Given the description of an element on the screen output the (x, y) to click on. 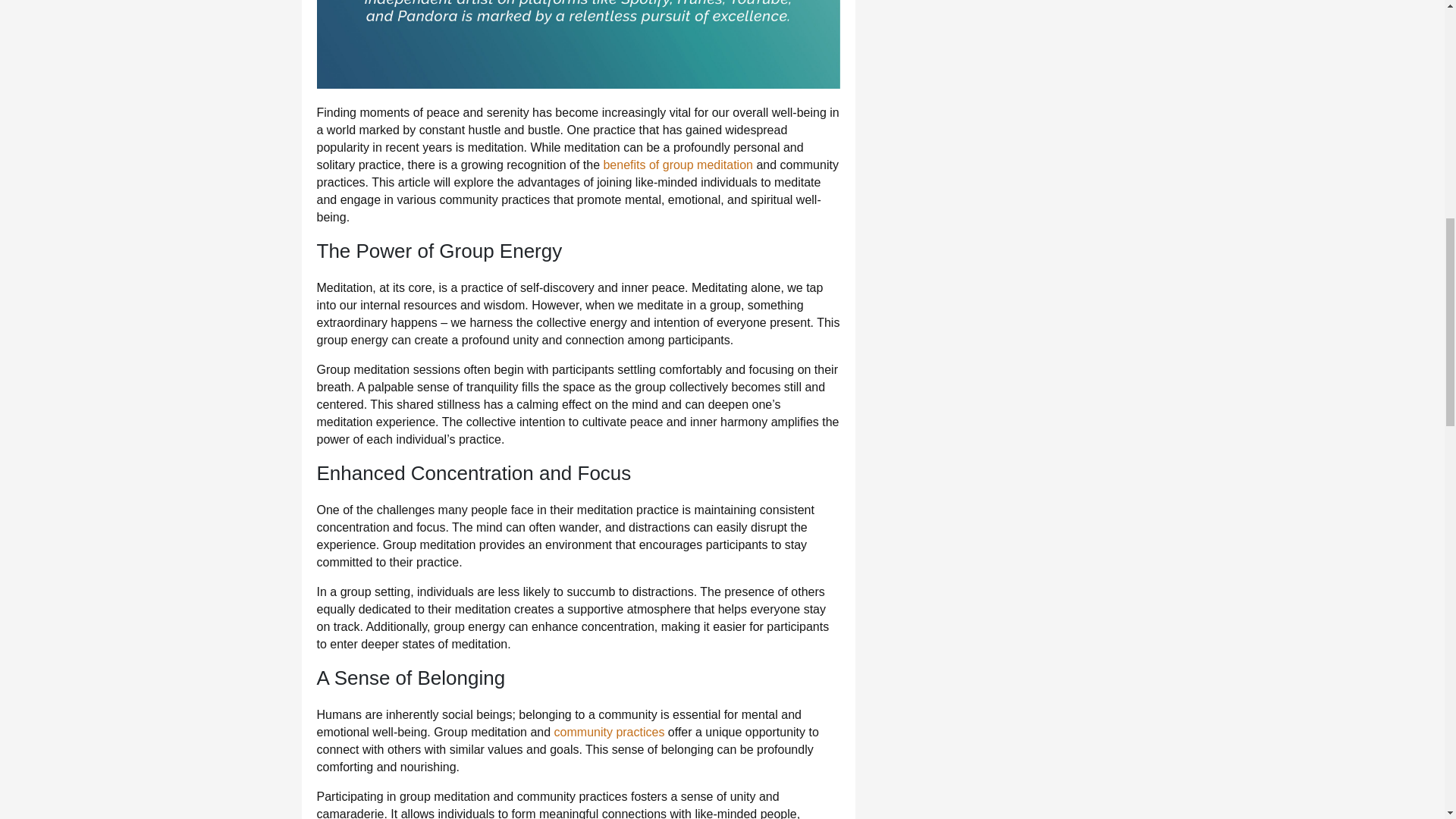
benefits of group meditation (677, 164)
community practices (609, 731)
